Given the description of an element on the screen output the (x, y) to click on. 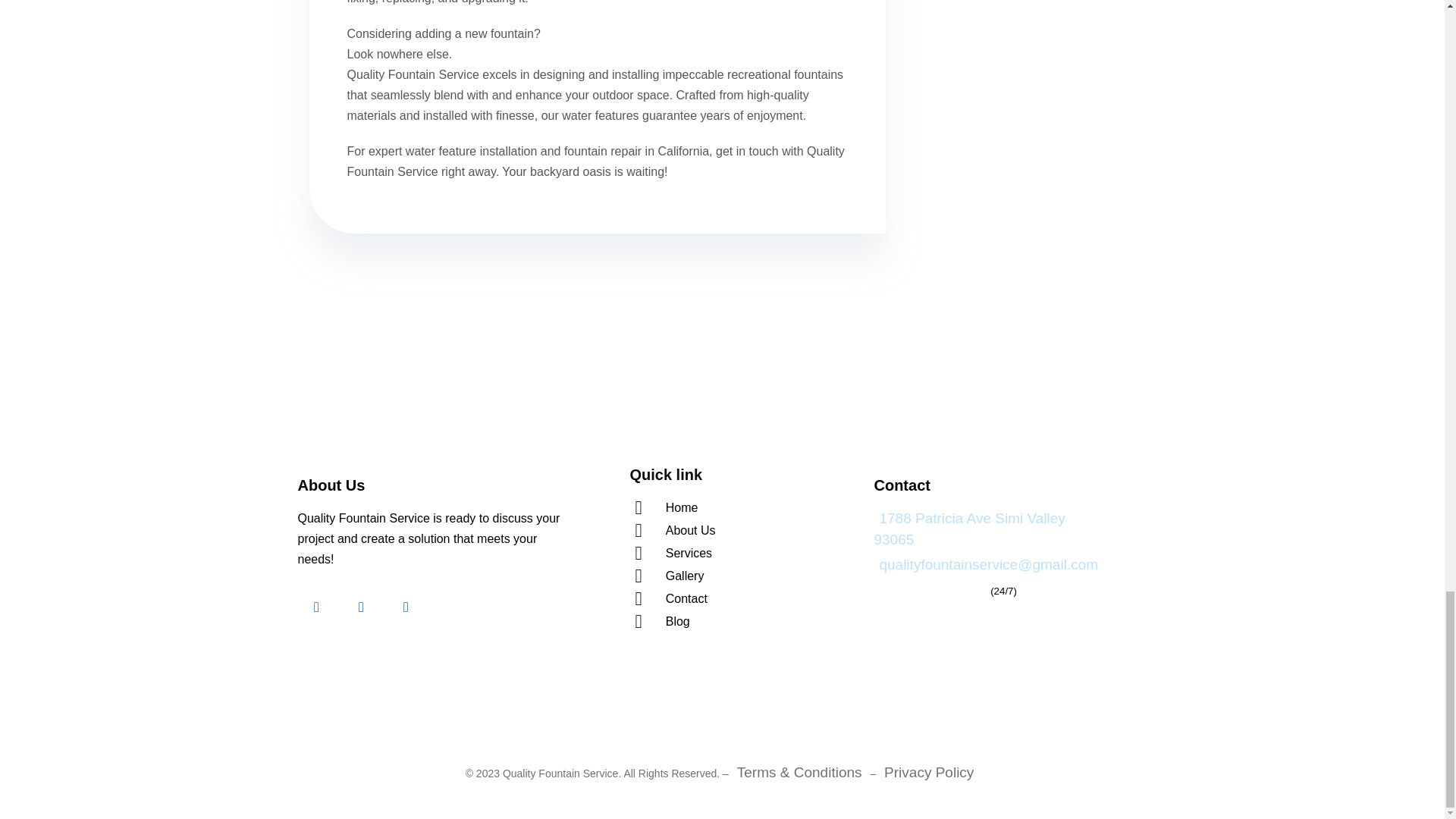
Services (747, 552)
Gallery (747, 575)
About Us (747, 530)
Home (747, 507)
1788 Patricia Ave Simi Valley 93065 (968, 528)
Blog (747, 620)
Contact (747, 598)
1-805-304-1492 (930, 589)
Privacy Policy (928, 772)
